Given the description of an element on the screen output the (x, y) to click on. 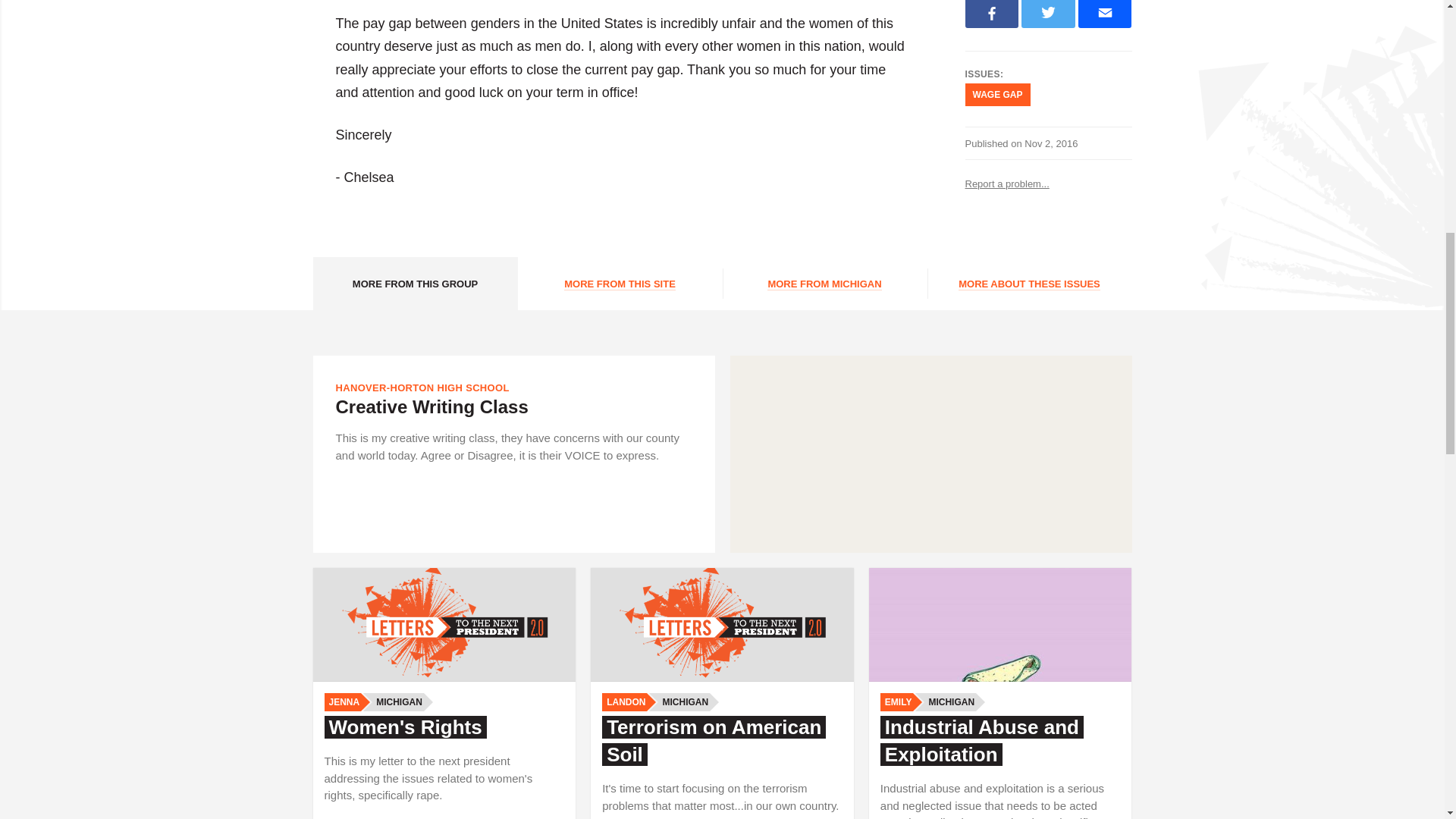
MORE ABOUT THESE ISSUES (1028, 283)
MORE FROM MICHIGAN (824, 283)
MORE FROM THIS GROUP (414, 283)
HANOVER-HORTON HIGH SCHOOL (421, 387)
MORE FROM THIS SITE (619, 283)
